Given the description of an element on the screen output the (x, y) to click on. 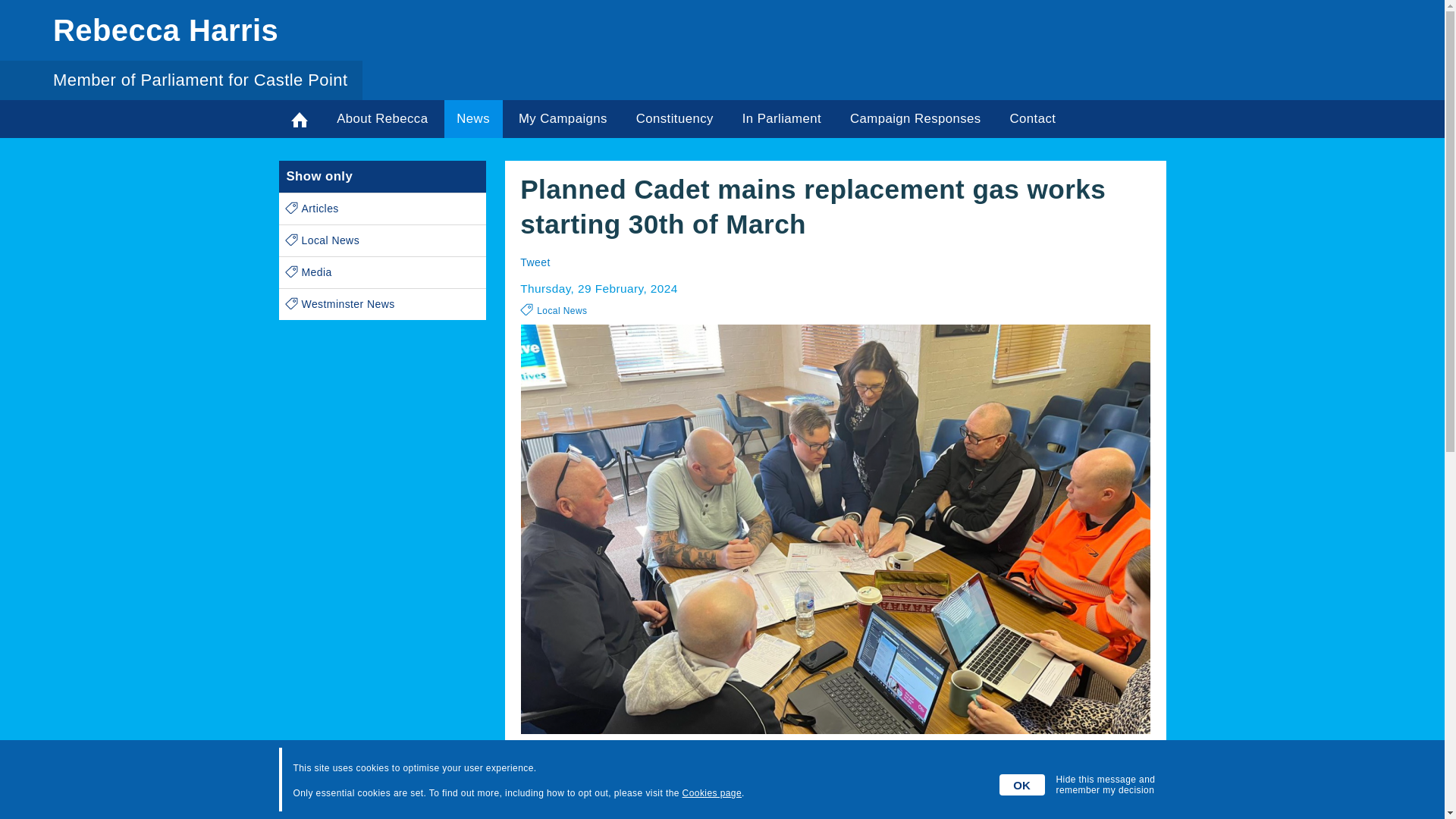
About Rebecca (382, 118)
Tweet (534, 262)
Constituency (674, 118)
Local News (382, 240)
Constituency (674, 118)
Home (300, 118)
Westminster News (382, 304)
Contact (1032, 118)
Cookies page (711, 792)
News (473, 118)
In Parliament (781, 118)
Articles (382, 208)
Campaign Responses (914, 118)
Media (382, 272)
